Given the description of an element on the screen output the (x, y) to click on. 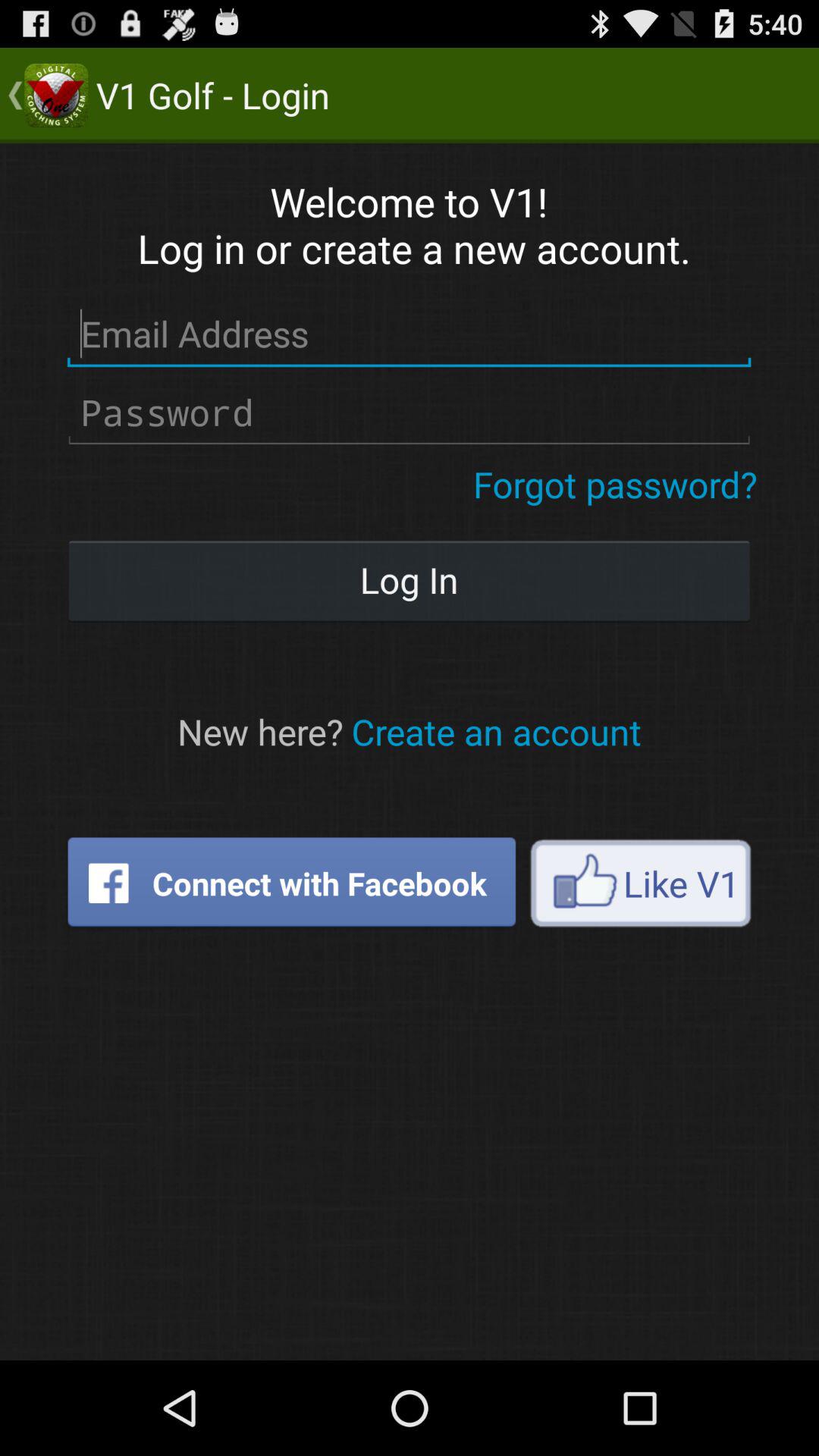
turn off the icon below the new here? icon (291, 883)
